Given the description of an element on the screen output the (x, y) to click on. 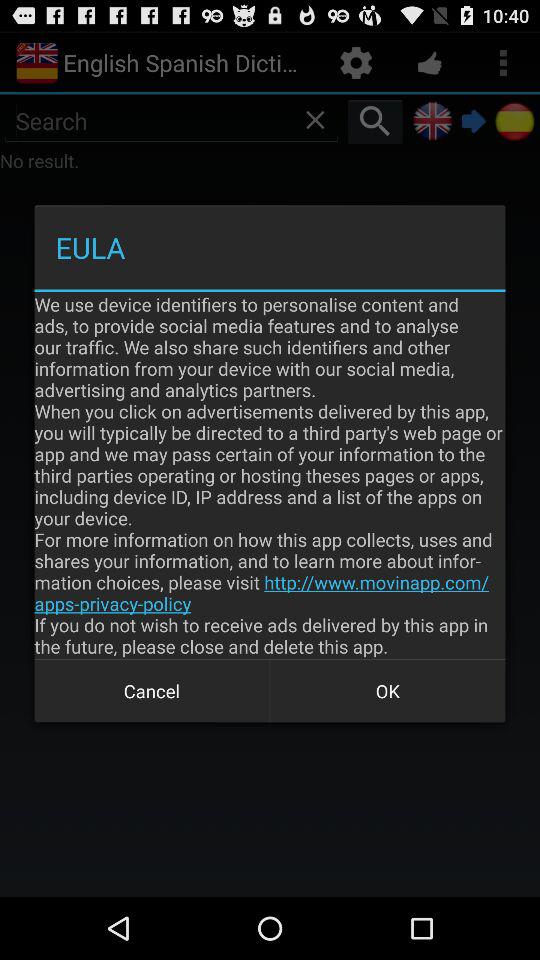
turn on the icon to the right of the cancel (387, 690)
